Given the description of an element on the screen output the (x, y) to click on. 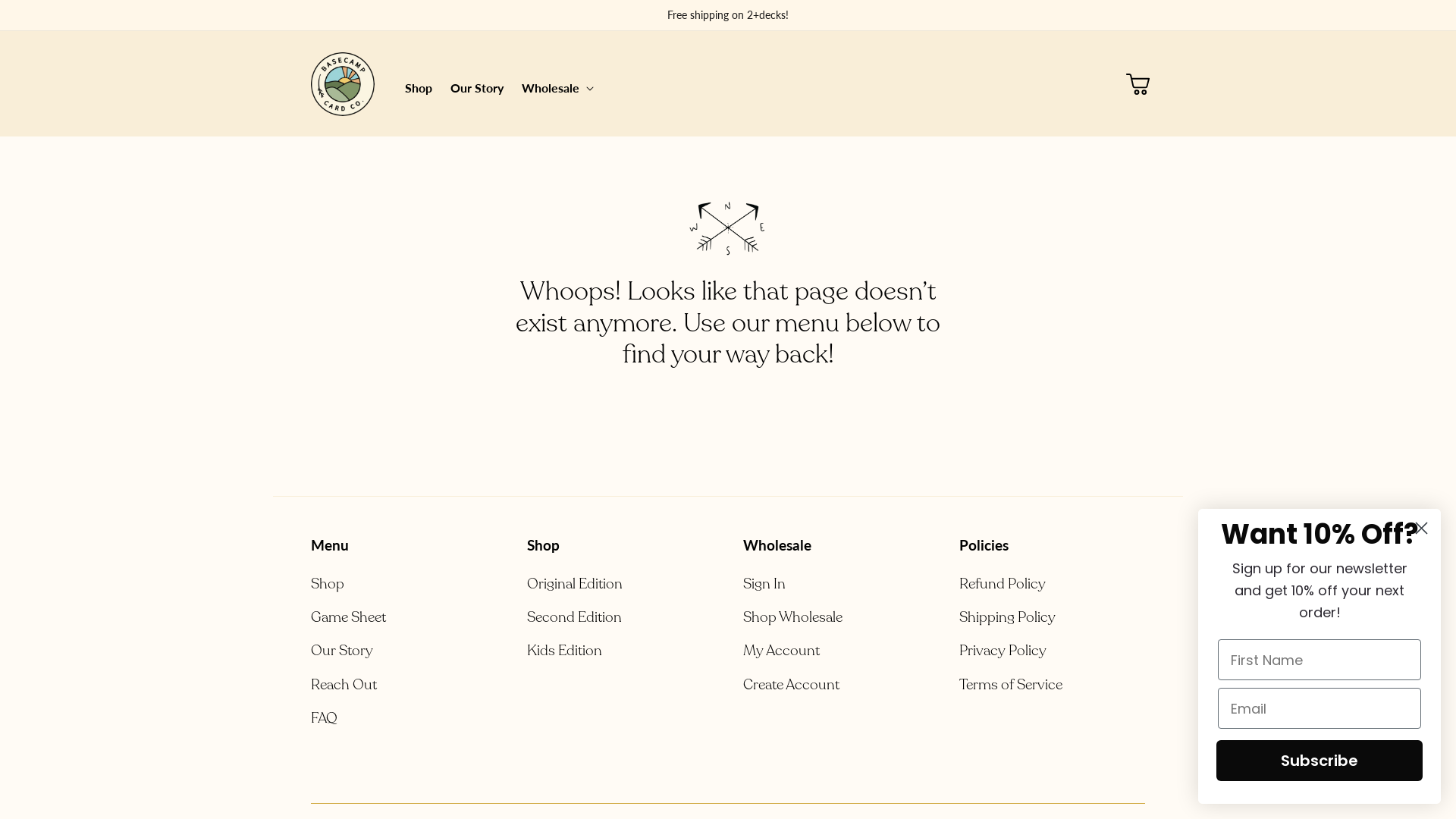
Refund Policy Element type: text (1002, 585)
Game Sheet Element type: text (347, 616)
Create Account Element type: text (791, 684)
Kids Edition Element type: text (564, 650)
Cart Element type: text (1137, 83)
My Account Element type: text (781, 650)
Shipping Policy Element type: text (1007, 616)
Reach Out Element type: text (343, 684)
Subscribe Element type: text (1319, 760)
Our Story Element type: text (341, 650)
Privacy Policy Element type: text (1002, 650)
Original Edition Element type: text (574, 585)
FAQ Element type: text (323, 717)
Terms of Service Element type: text (1010, 684)
Close dialog 1 Element type: text (1421, 527)
Shop Element type: text (418, 87)
Submit Element type: text (21, 7)
Shop Wholesale Element type: text (792, 616)
Second Edition Element type: text (574, 616)
Sign In Element type: text (764, 585)
Our Story Element type: text (476, 87)
Shop Element type: text (327, 585)
